Given the description of an element on the screen output the (x, y) to click on. 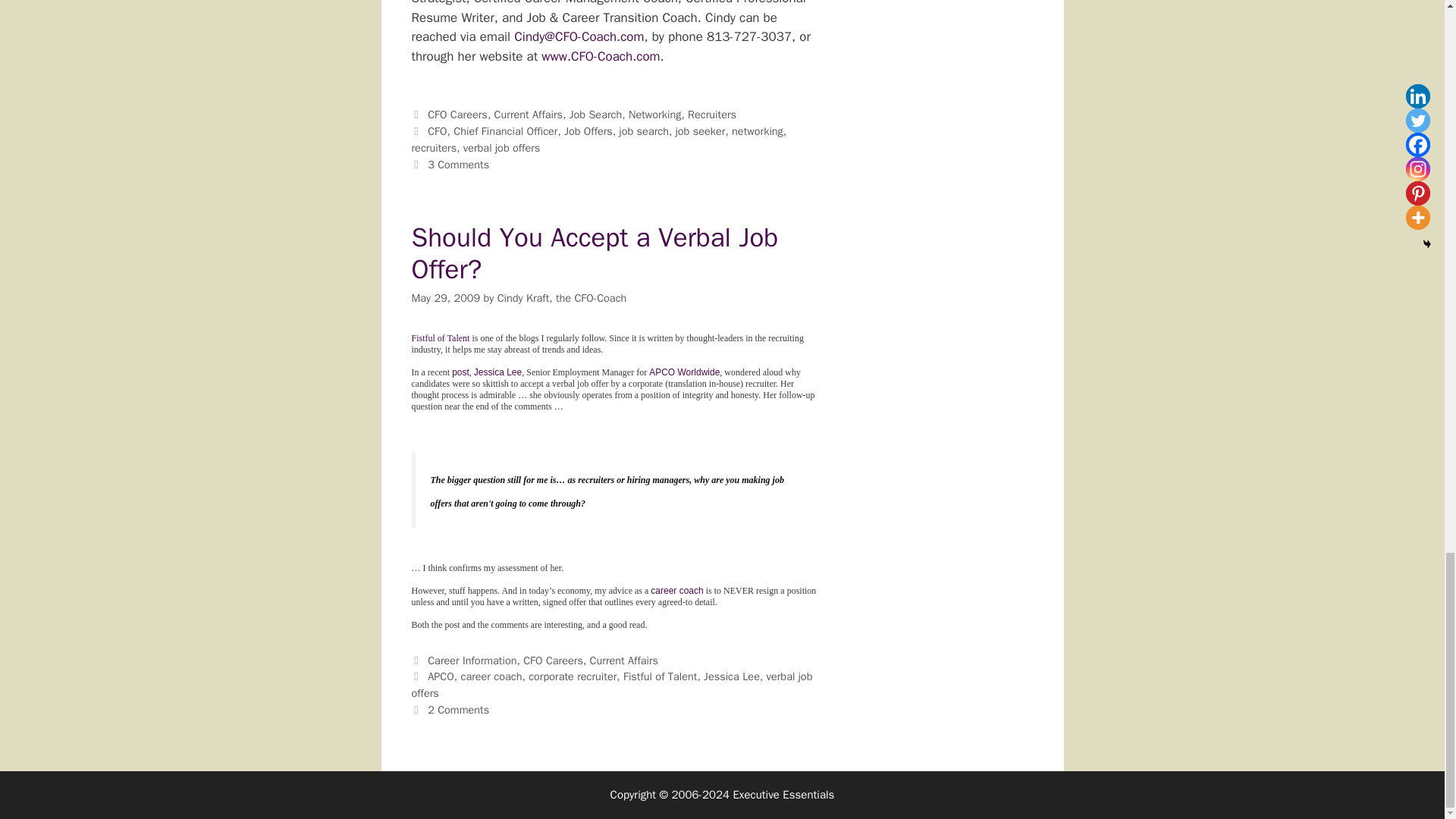
Current Affairs (529, 114)
Networking (654, 114)
verbal job offers (501, 147)
Job Search (595, 114)
Fistful of Talent (439, 337)
Should You Accept a Verbal Job Offer? (593, 252)
www.CFO-Coach.com (600, 56)
Recruiters (711, 114)
View all posts by Cindy Kraft, the CFO-Coach (562, 297)
recruiters (433, 147)
